Given the description of an element on the screen output the (x, y) to click on. 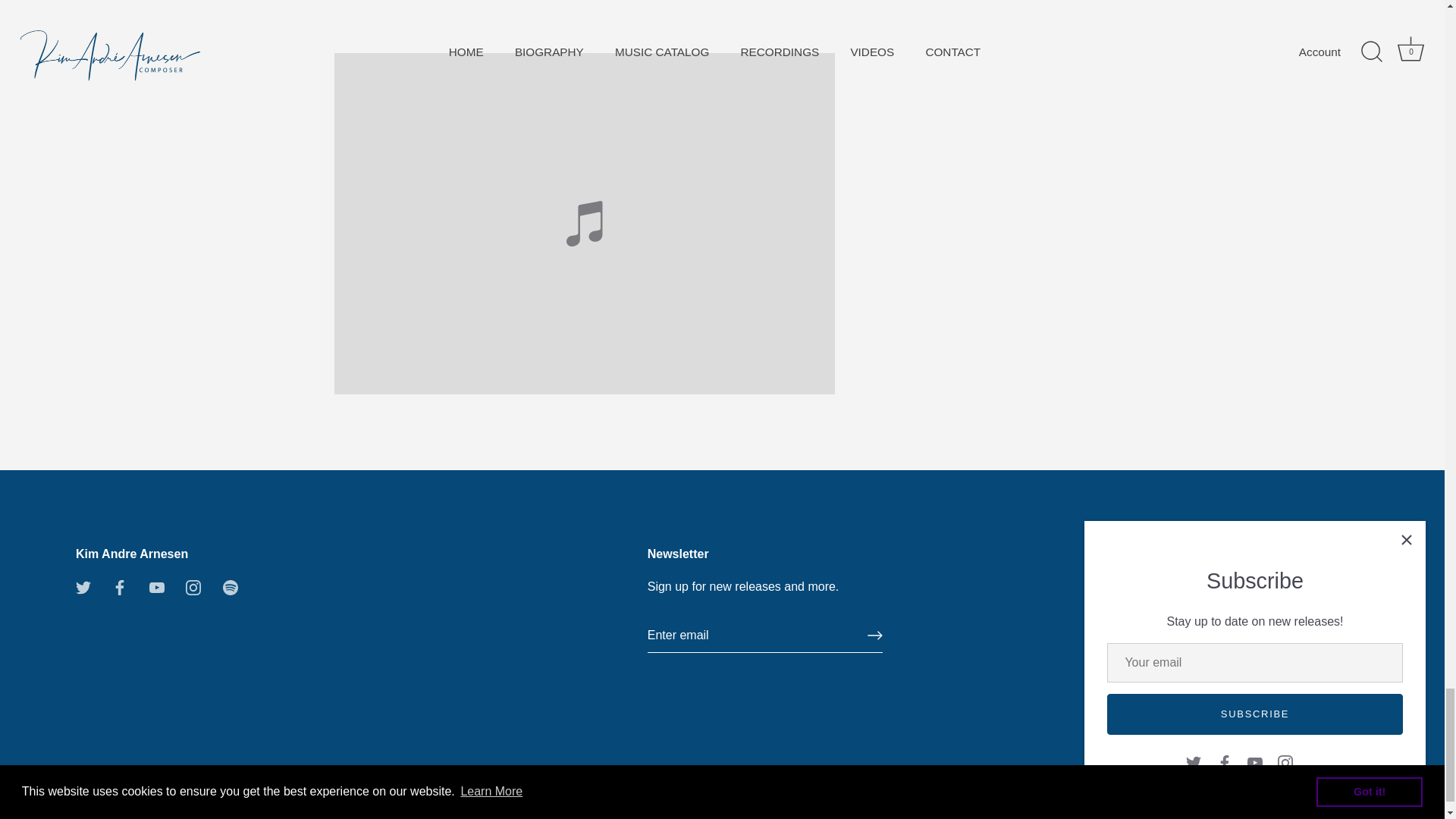
Instagram (193, 587)
Twitter (82, 587)
RIGHT ARROW LONG (874, 635)
Twitter (82, 585)
Youtube (156, 587)
